Given the description of an element on the screen output the (x, y) to click on. 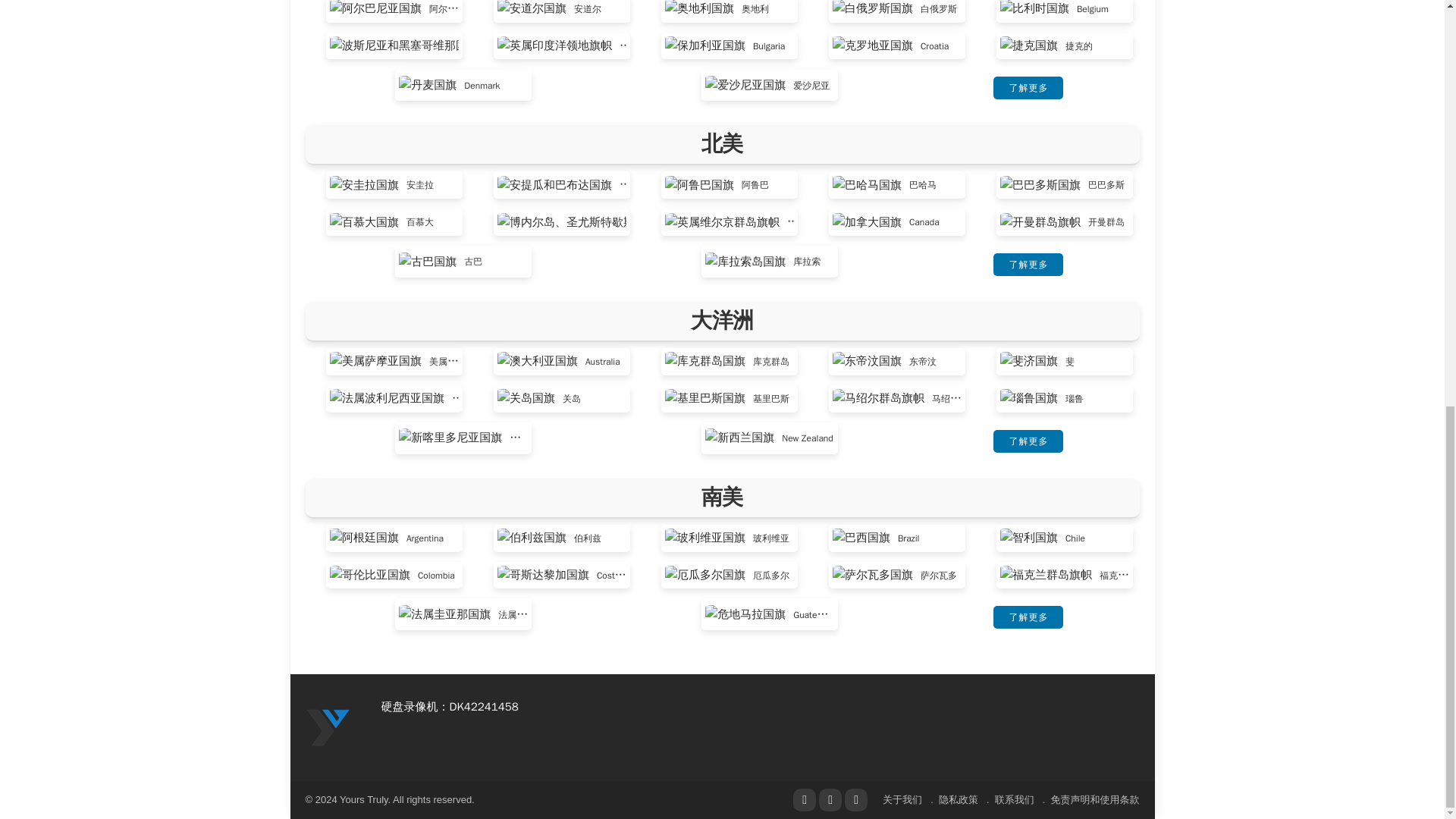
Yours Truly (327, 726)
twitter (829, 799)
Instagram (855, 799)
Facebook (804, 799)
